Given the description of an element on the screen output the (x, y) to click on. 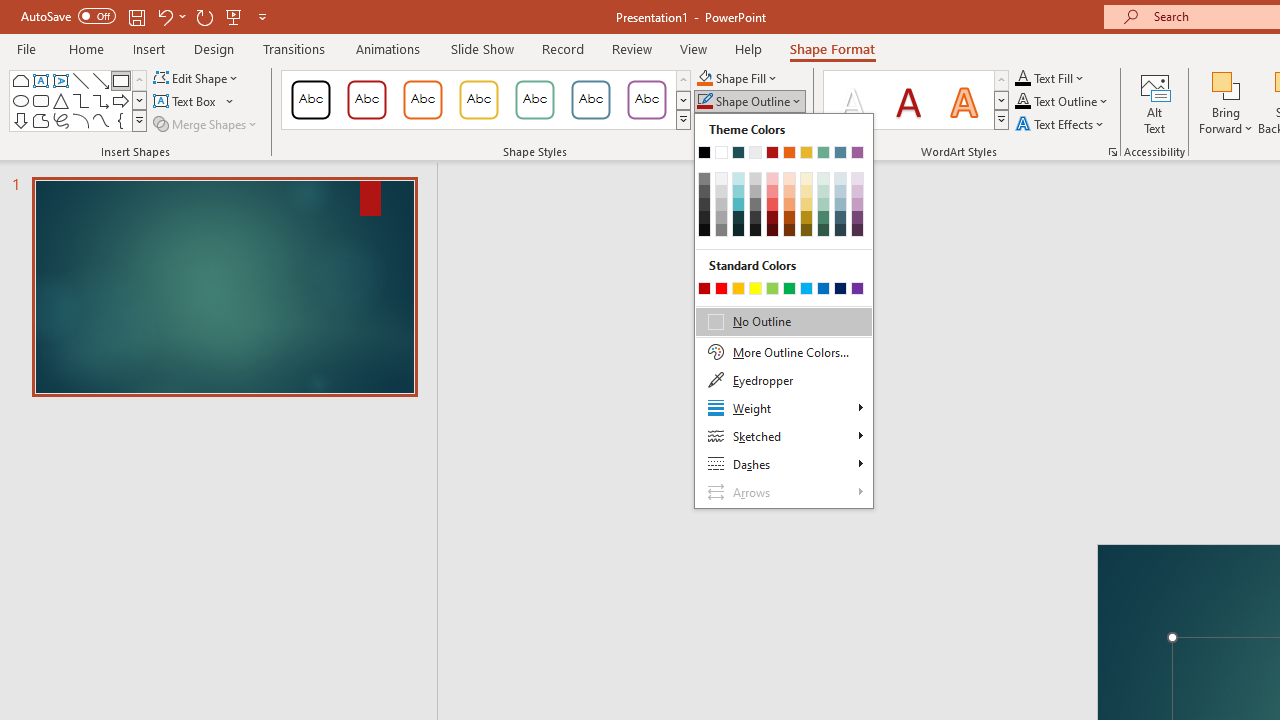
AutomationID: ShapeStylesGallery (486, 99)
Colored Outline - Green, Accent 4 (534, 100)
Bring Forward (1225, 84)
